Given the description of an element on the screen output the (x, y) to click on. 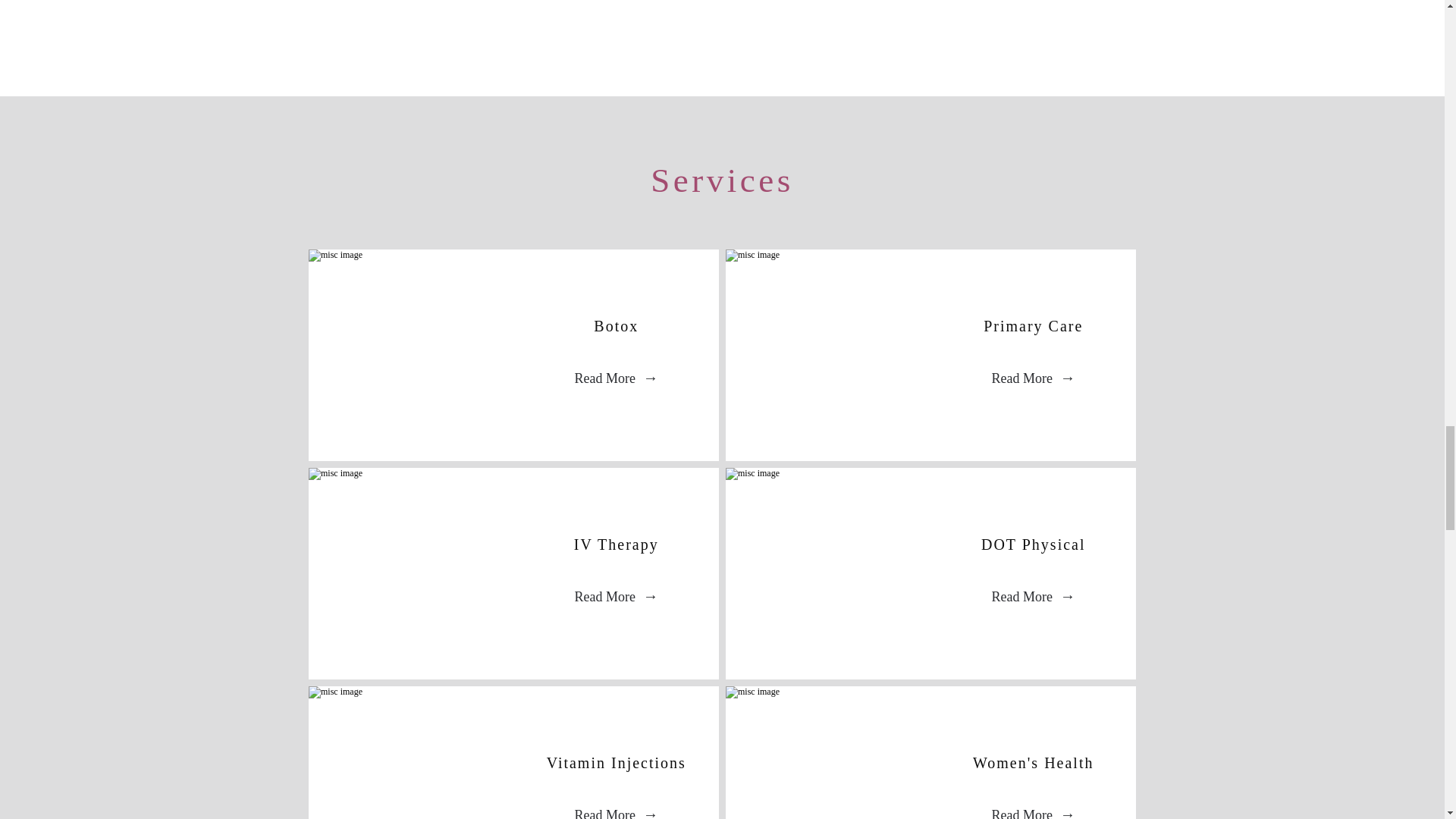
Women's Health (1032, 762)
Primary Care (1033, 325)
Read More (1032, 378)
Vitamin Injections (616, 762)
DOT Physical (1033, 544)
Botox (616, 325)
Read More (615, 378)
Read More (1032, 805)
Read More (1032, 597)
Read More (615, 597)
IV Therapy (616, 544)
Read More (615, 805)
